Given the description of an element on the screen output the (x, y) to click on. 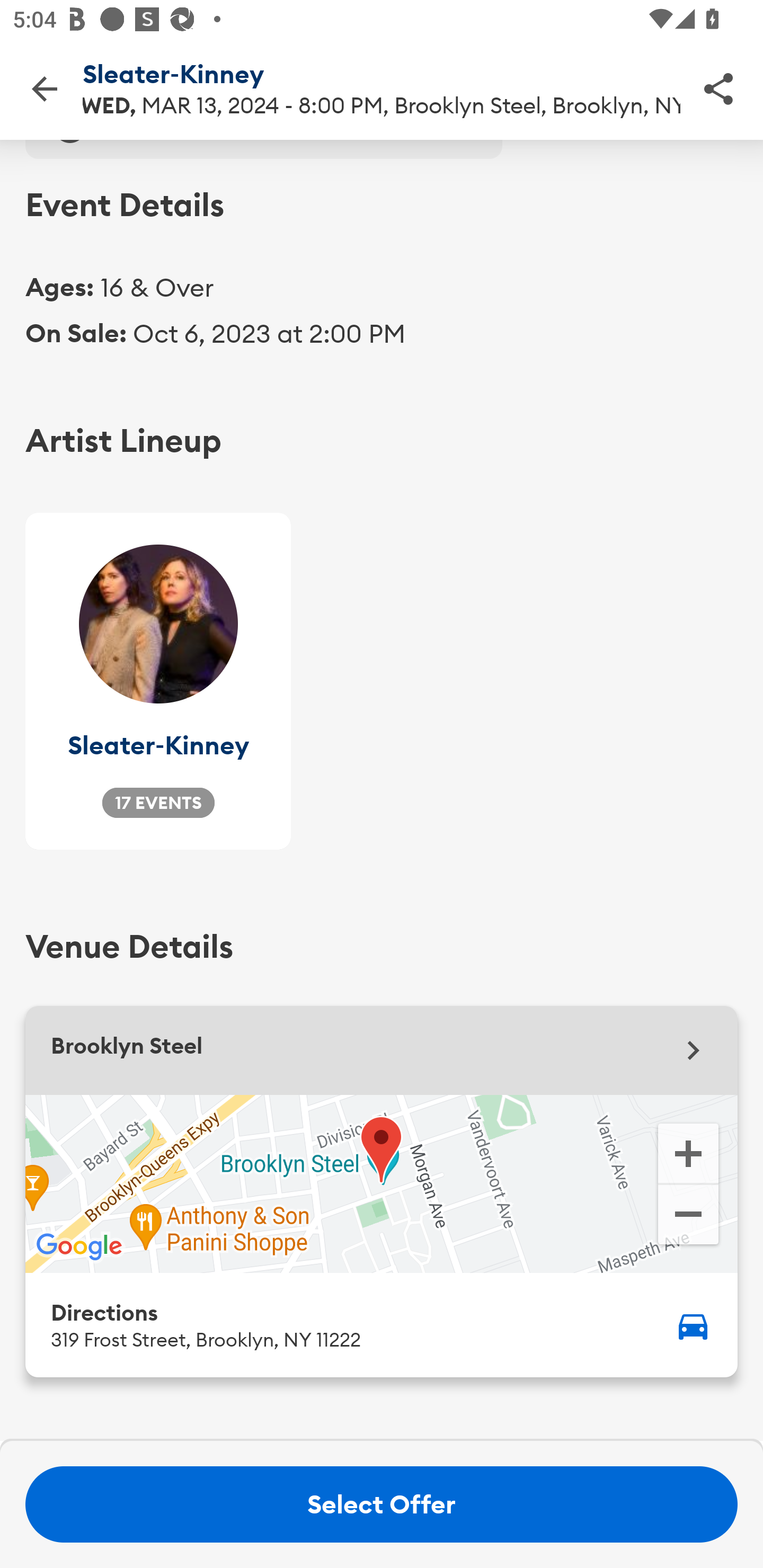
BackButton (44, 88)
Share (718, 88)
Sleater‐Kinney 17 EVENTS (157, 680)
Brooklyn Steel (381, 1050)
Google Map Brooklyn Steel.  Zoom in Zoom out (381, 1183)
Zoom in (687, 1152)
Zoom out (687, 1216)
Directions 319 Frost Street, Brooklyn, NY 11222 (381, 1324)
Select Offer (381, 1504)
